Given the description of an element on the screen output the (x, y) to click on. 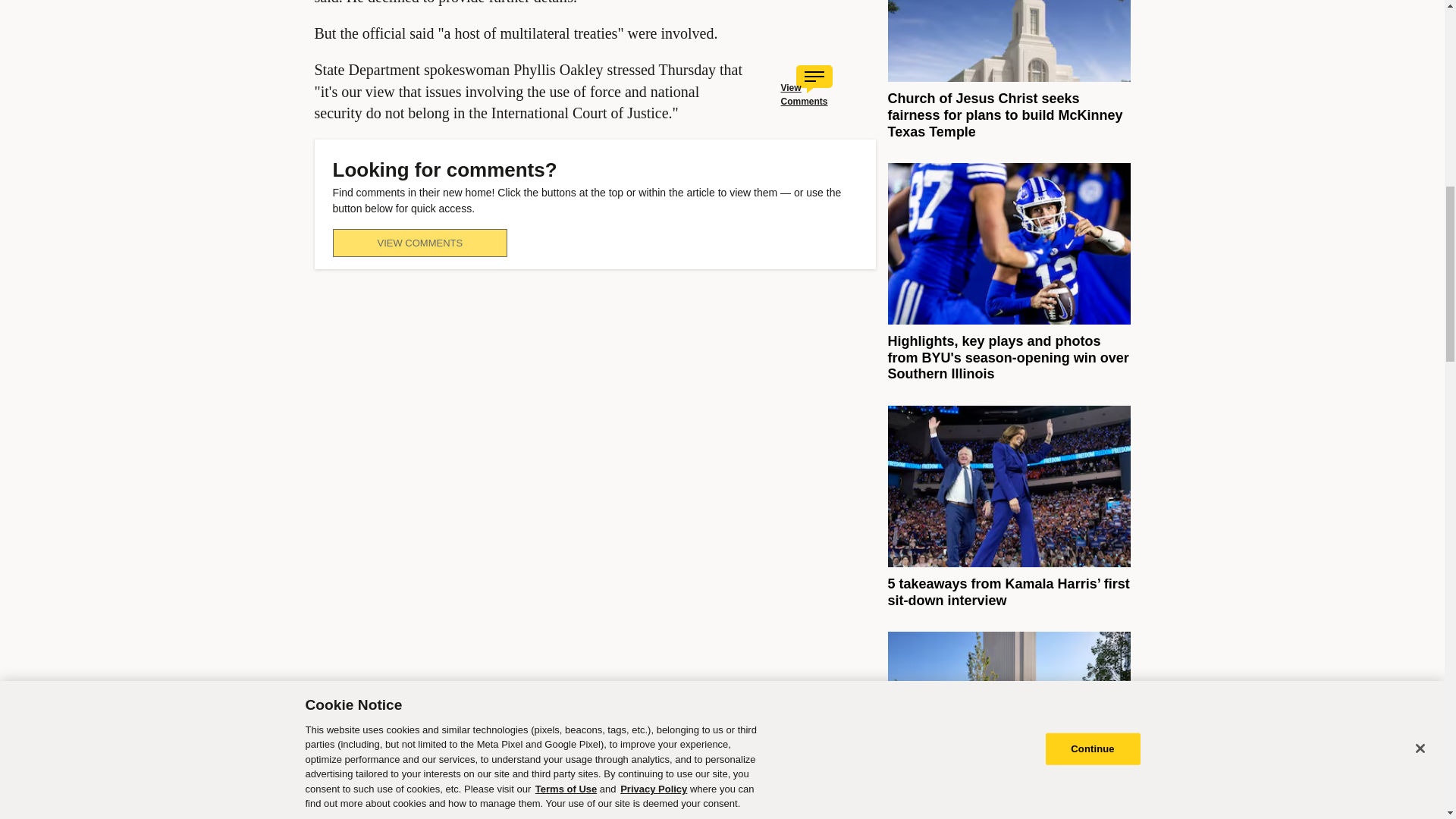
VIEW COMMENTS (418, 243)
